Given the description of an element on the screen output the (x, y) to click on. 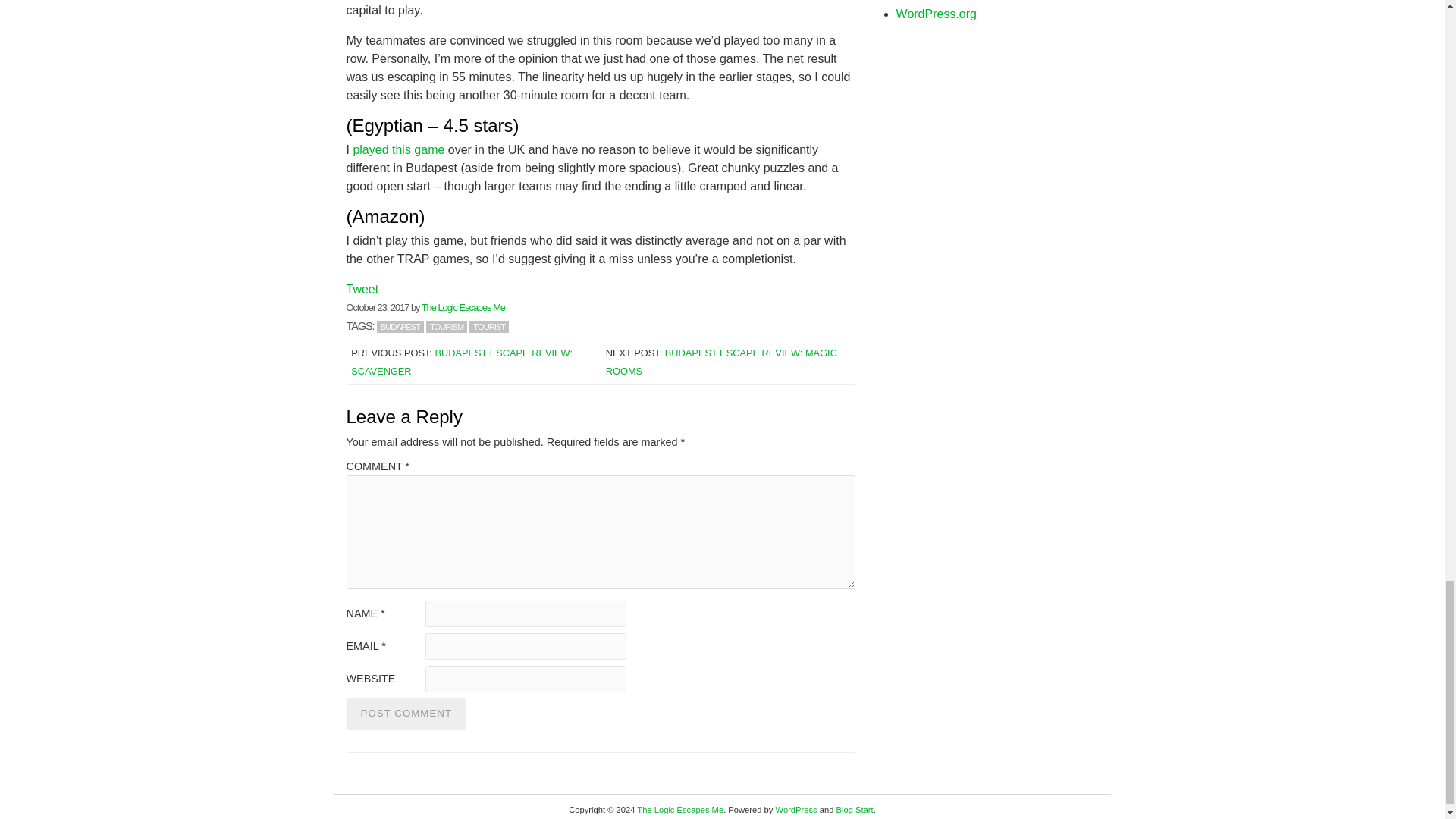
Posts by The Logic Escapes Me (463, 307)
Monday, Oct 23, 2017, 6:23 am (377, 307)
Post Comment (405, 713)
